Given the description of an element on the screen output the (x, y) to click on. 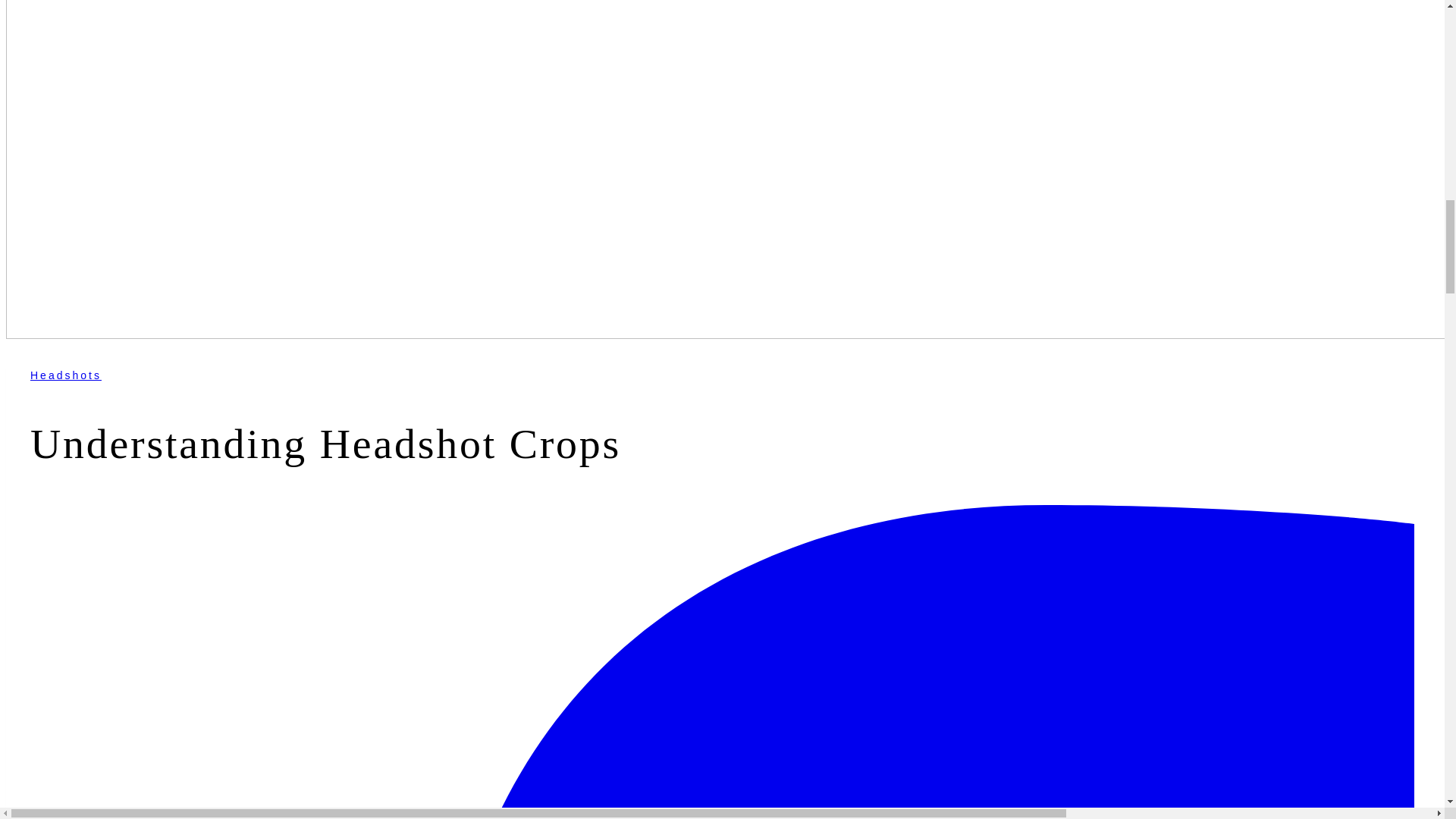
Headshots (65, 375)
